Given the description of an element on the screen output the (x, y) to click on. 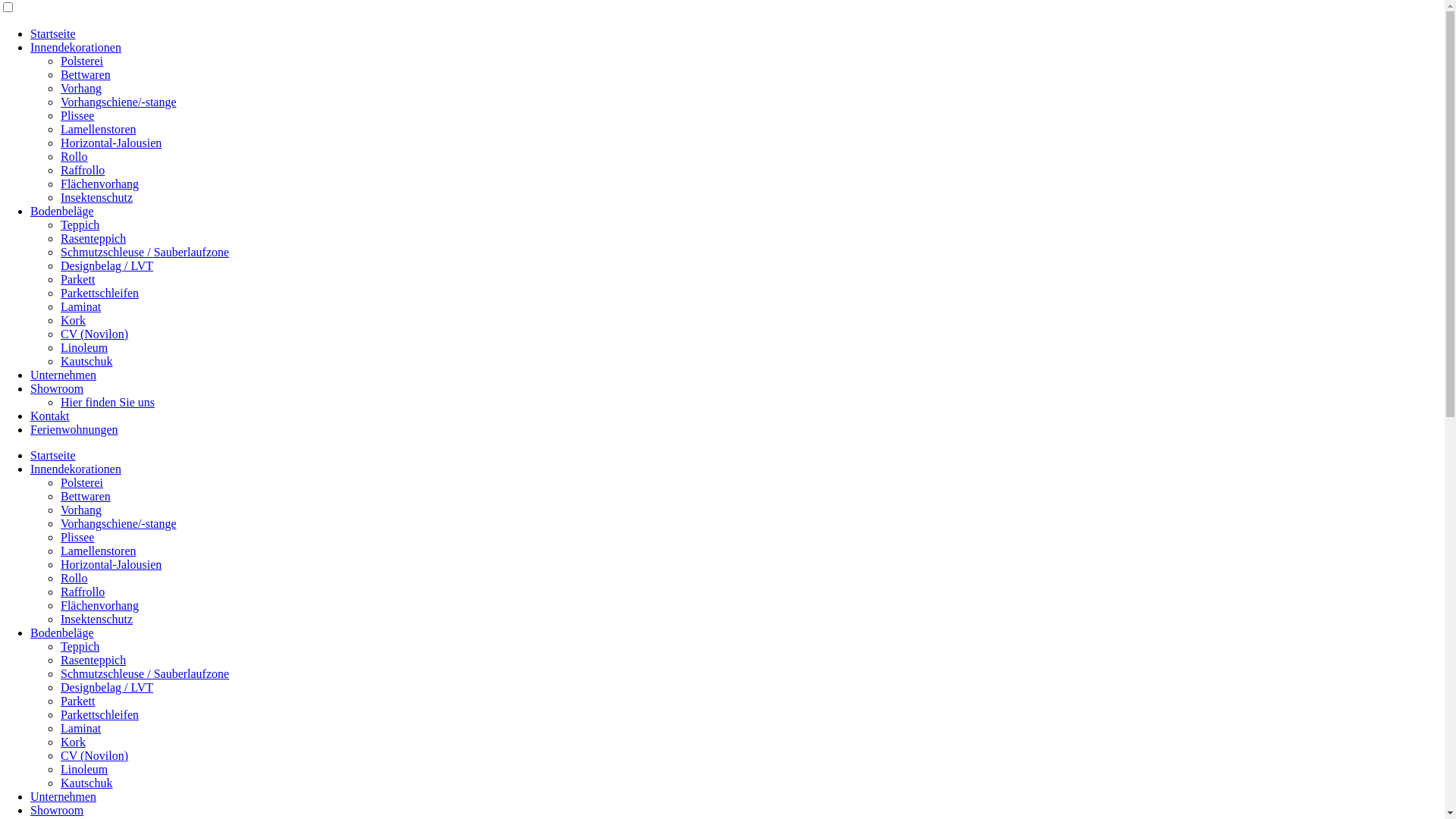
Unternehmen Element type: text (63, 796)
Raffrollo Element type: text (82, 591)
Kautschuk Element type: text (86, 360)
Teppich Element type: text (79, 224)
Linoleum Element type: text (83, 347)
Innendekorationen Element type: text (75, 46)
Polsterei Element type: text (81, 60)
Laminat Element type: text (80, 727)
Plissee Element type: text (77, 115)
Parkettschleifen Element type: text (99, 292)
Vorhang Element type: text (80, 509)
Vorhangschiene/-stange Element type: text (118, 523)
Designbelag / LVT Element type: text (106, 686)
Startseite Element type: text (52, 454)
Insektenschutz Element type: text (96, 197)
Linoleum Element type: text (83, 768)
Parkettschleifen Element type: text (99, 714)
Teppich Element type: text (79, 646)
Bettwaren Element type: text (85, 74)
Parkett Element type: text (77, 700)
Horizontal-Jalousien Element type: text (110, 142)
Hier finden Sie uns Element type: text (107, 401)
Showroom Element type: text (56, 809)
Polsterei Element type: text (81, 482)
Rasenteppich Element type: text (92, 659)
Showroom Element type: text (56, 388)
CV (Novilon) Element type: text (94, 333)
Schmutzschleuse / Sauberlaufzone Element type: text (144, 251)
Designbelag / LVT Element type: text (106, 265)
Rollo Element type: text (73, 156)
Bettwaren Element type: text (85, 495)
Kork Element type: text (72, 319)
Plissee Element type: text (77, 536)
Unternehmen Element type: text (63, 374)
Parkett Element type: text (77, 279)
Kork Element type: text (72, 741)
Ferienwohnungen Element type: text (74, 429)
Kautschuk Element type: text (86, 782)
Lamellenstoren Element type: text (98, 550)
Startseite Element type: text (52, 33)
Insektenschutz Element type: text (96, 618)
CV (Novilon) Element type: text (94, 755)
Schmutzschleuse / Sauberlaufzone Element type: text (144, 673)
Laminat Element type: text (80, 306)
Horizontal-Jalousien Element type: text (110, 564)
Lamellenstoren Element type: text (98, 128)
Rollo Element type: text (73, 577)
Vorhangschiene/-stange Element type: text (118, 101)
Innendekorationen Element type: text (75, 468)
Vorhang Element type: text (80, 87)
Rasenteppich Element type: text (92, 238)
Kontakt Element type: text (49, 415)
Raffrollo Element type: text (82, 169)
